Given the description of an element on the screen output the (x, y) to click on. 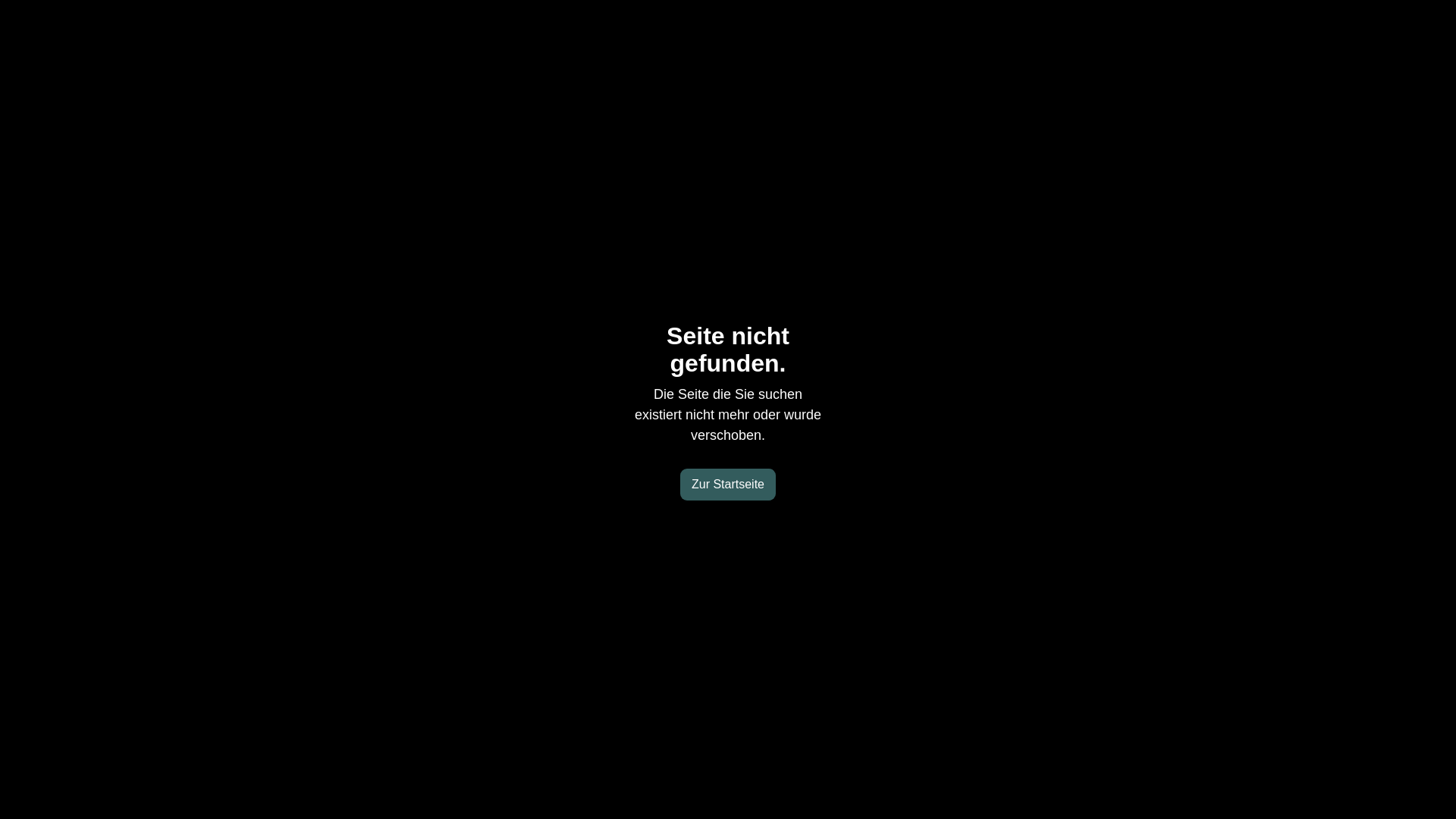
Zur Startseite Element type: text (727, 484)
